Given the description of an element on the screen output the (x, y) to click on. 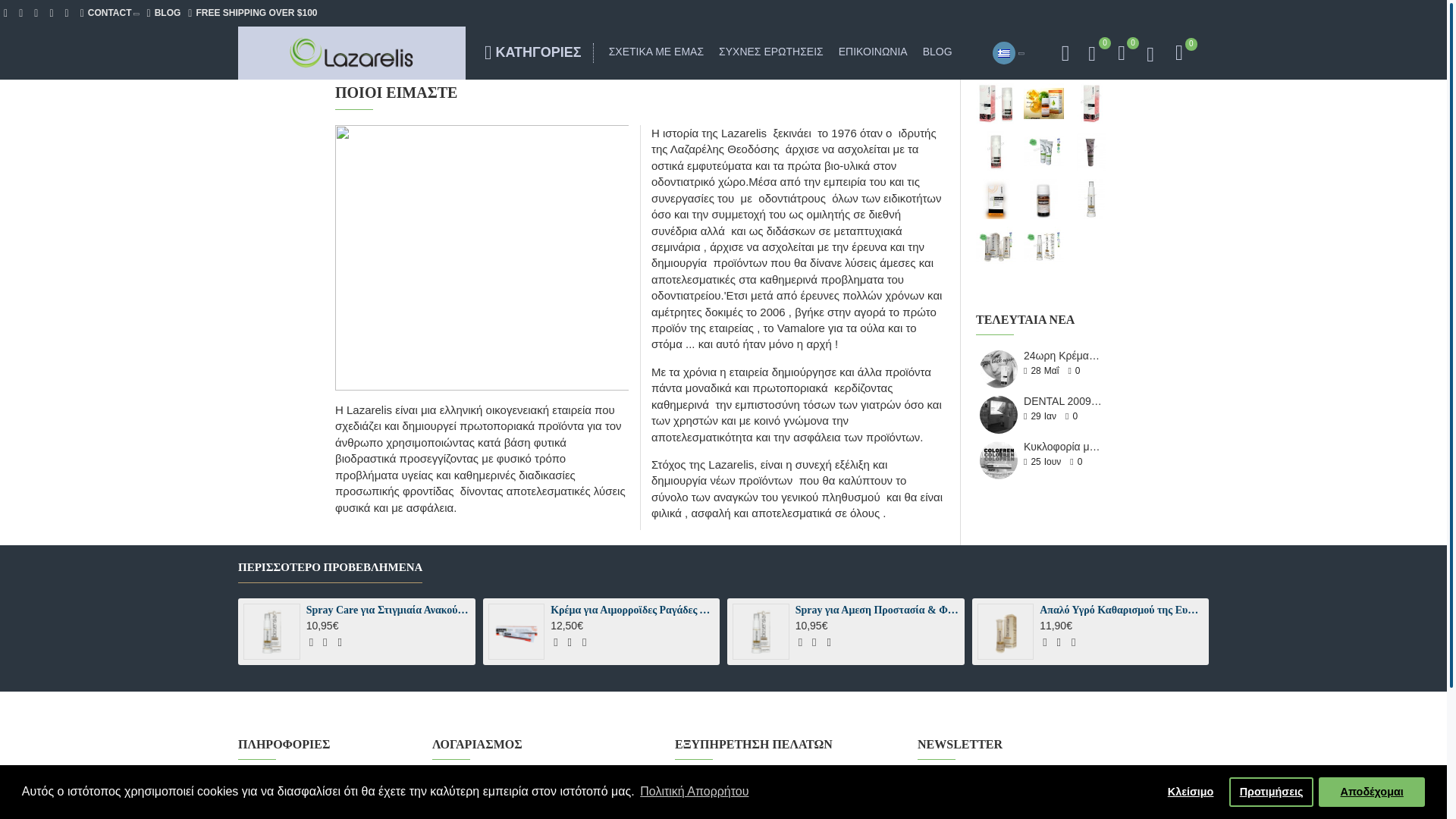
DENTAL 2009 - LAZARELIS (998, 414)
CONTACT (109, 13)
BLOG (937, 52)
BLOG (163, 13)
0 (1093, 53)
0 (1120, 53)
